Given the description of an element on the screen output the (x, y) to click on. 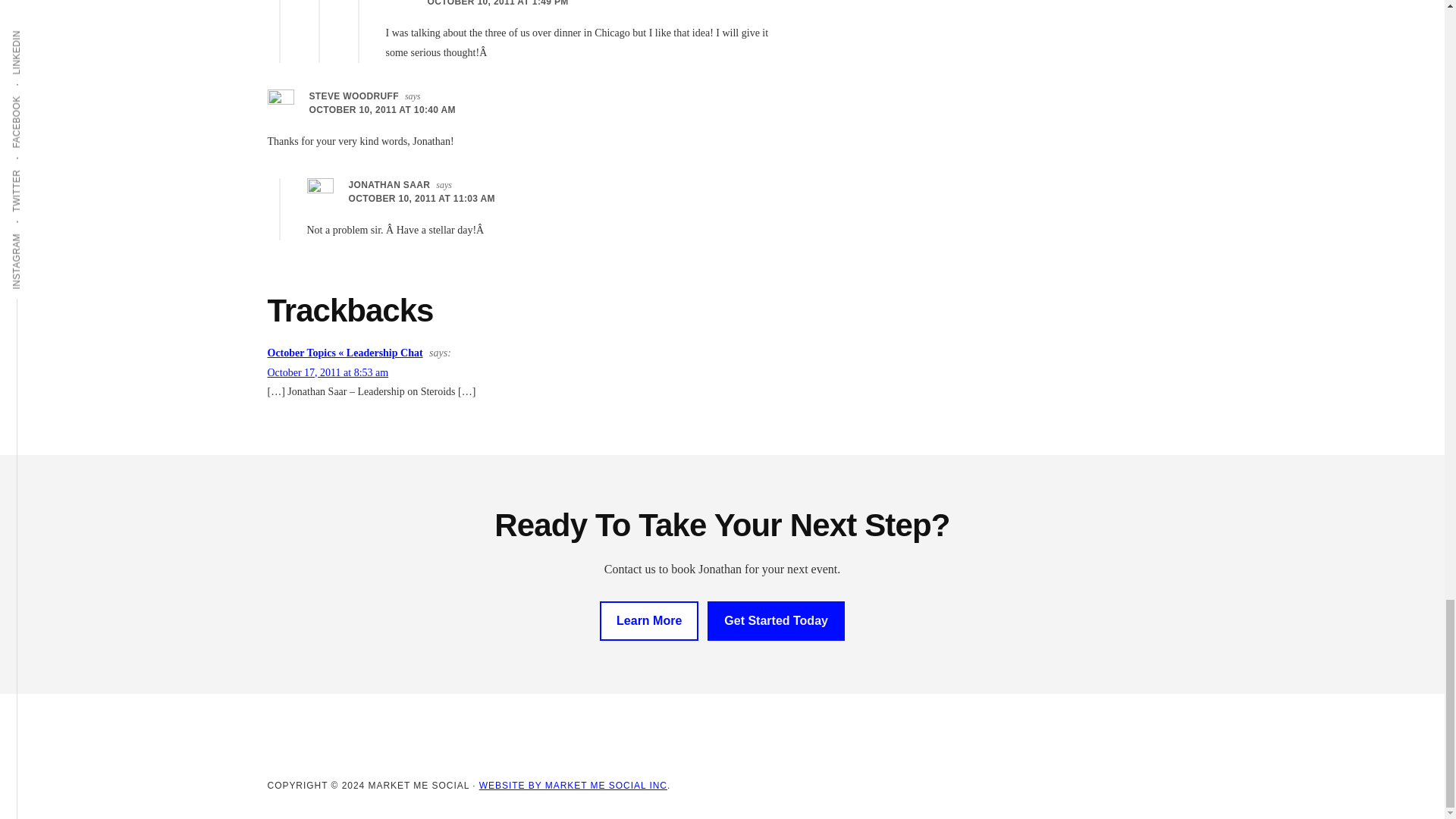
STEVE WOODRUFF (353, 95)
JONATHAN SAAR (389, 184)
OCTOBER 10, 2011 AT 10:40 AM (381, 109)
OCTOBER 10, 2011 AT 11:03 AM (422, 198)
OCTOBER 10, 2011 AT 1:49 PM (498, 3)
October 17, 2011 at 8:53 am (327, 372)
